Given the description of an element on the screen output the (x, y) to click on. 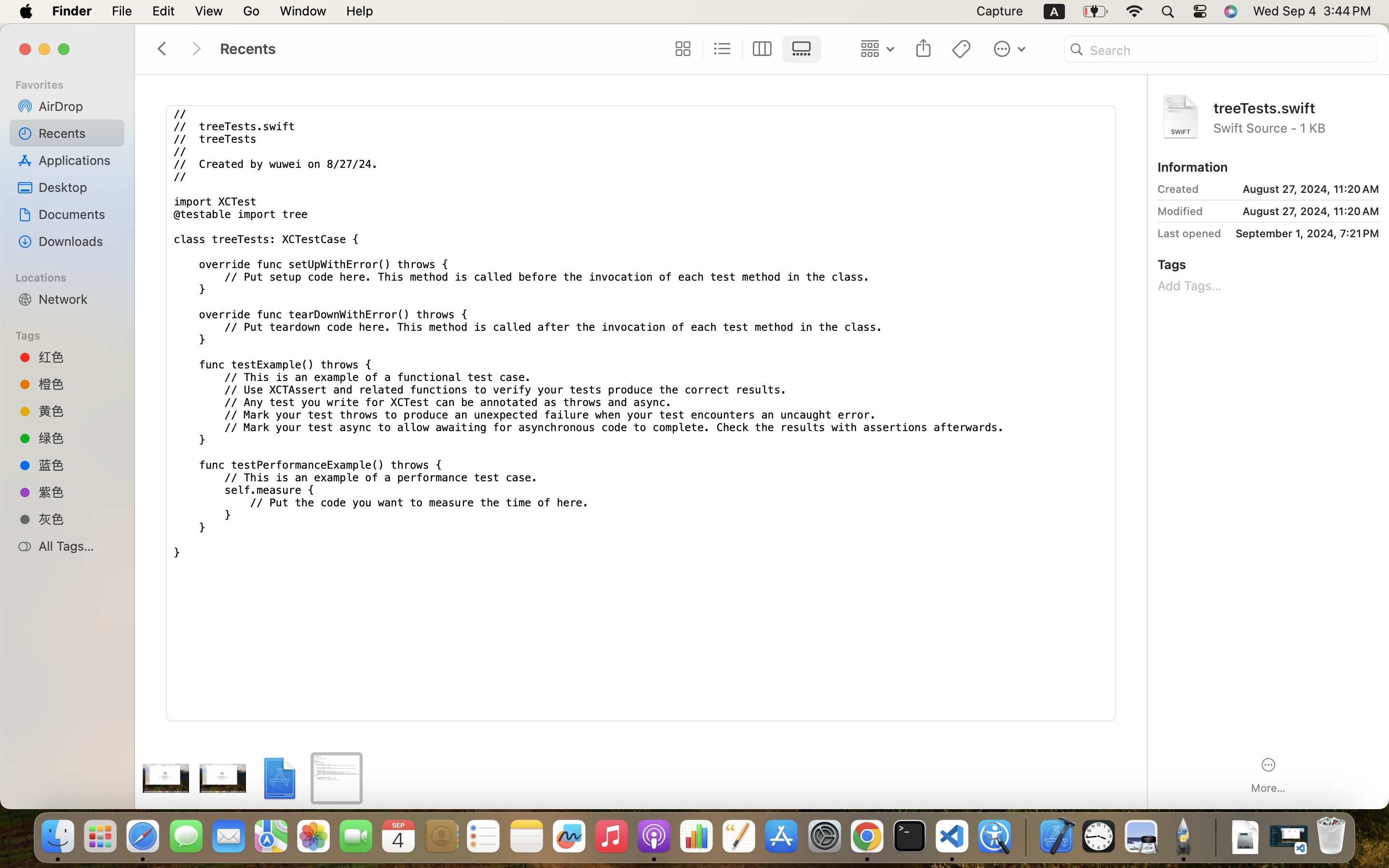
Network Element type: AXStaticText (77, 298)
September 1, 2024, 7:21 PM Element type: AXStaticText (1303, 233)
蓝色 Element type: AXStaticText (77, 464)
橙色 Element type: AXStaticText (77, 383)
Locations Element type: AXStaticText (72, 276)
